Given the description of an element on the screen output the (x, y) to click on. 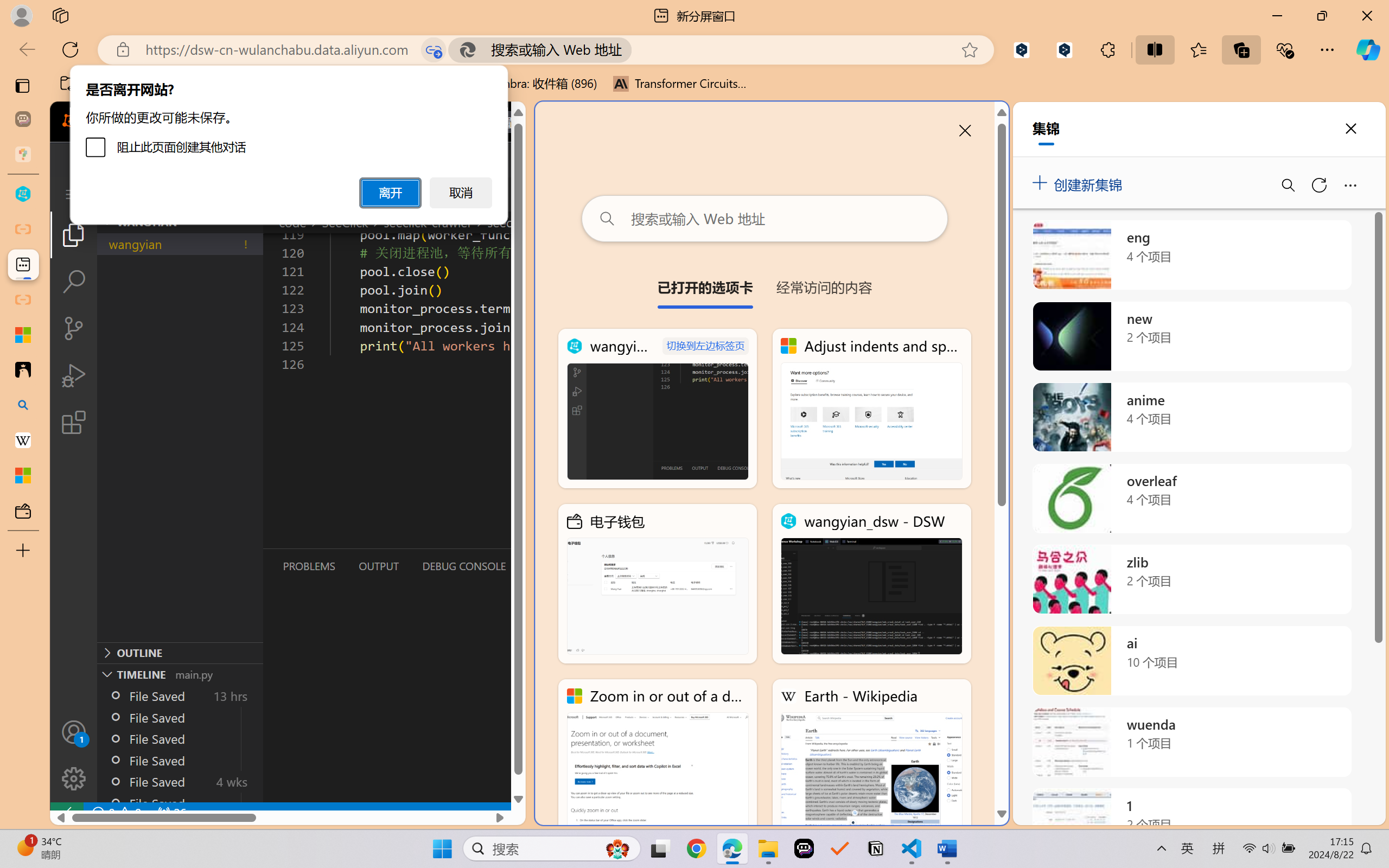
Collapse the Ribbon (1382, 92)
Undo (91, 9)
Row up (583, 48)
Text Highlight Color Yellow (283, 71)
Swap "from" and "to" languages. (1271, 231)
From Beginning (126, 9)
Font (205, 52)
Vertical Text Box (528, 48)
Class: NetUIImage (582, 72)
Shape Fill Dark Green, Accent 2 (644, 46)
Distributed (385, 71)
Decrease Font Size (296, 52)
Comments (1201, 29)
Align Left (333, 71)
